Given the description of an element on the screen output the (x, y) to click on. 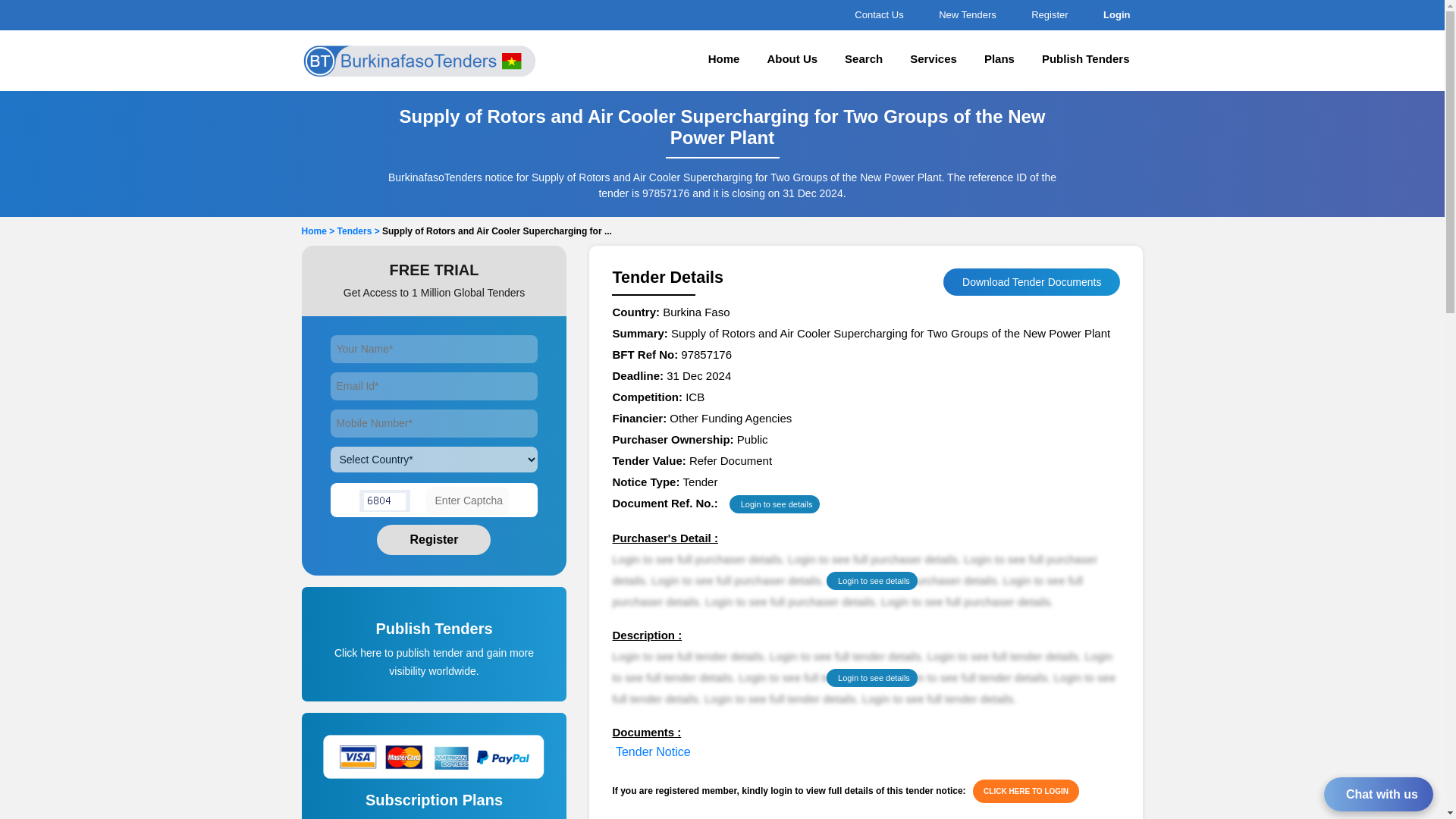
Tender Notice (652, 751)
Plans (999, 60)
Register (433, 539)
Login to see details (872, 678)
Search (863, 60)
Login (1114, 14)
CLICK HERE TO LOGIN (1025, 791)
Services (933, 60)
